Given the description of an element on the screen output the (x, y) to click on. 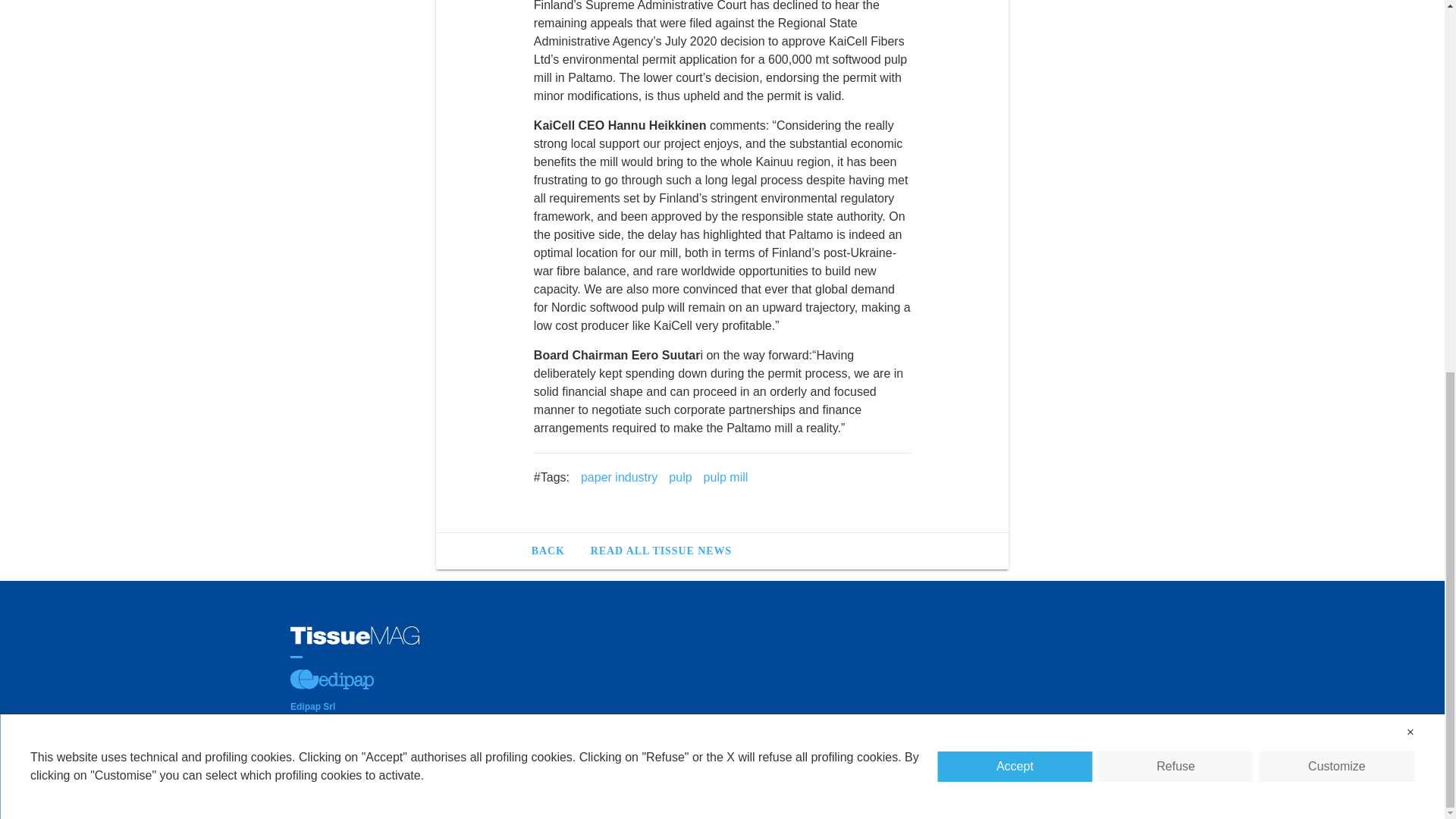
pulp mill (725, 477)
pulp (679, 477)
paper industry (619, 477)
BACK (553, 551)
READ ALL TISSUE NEWS (660, 551)
